Given the description of an element on the screen output the (x, y) to click on. 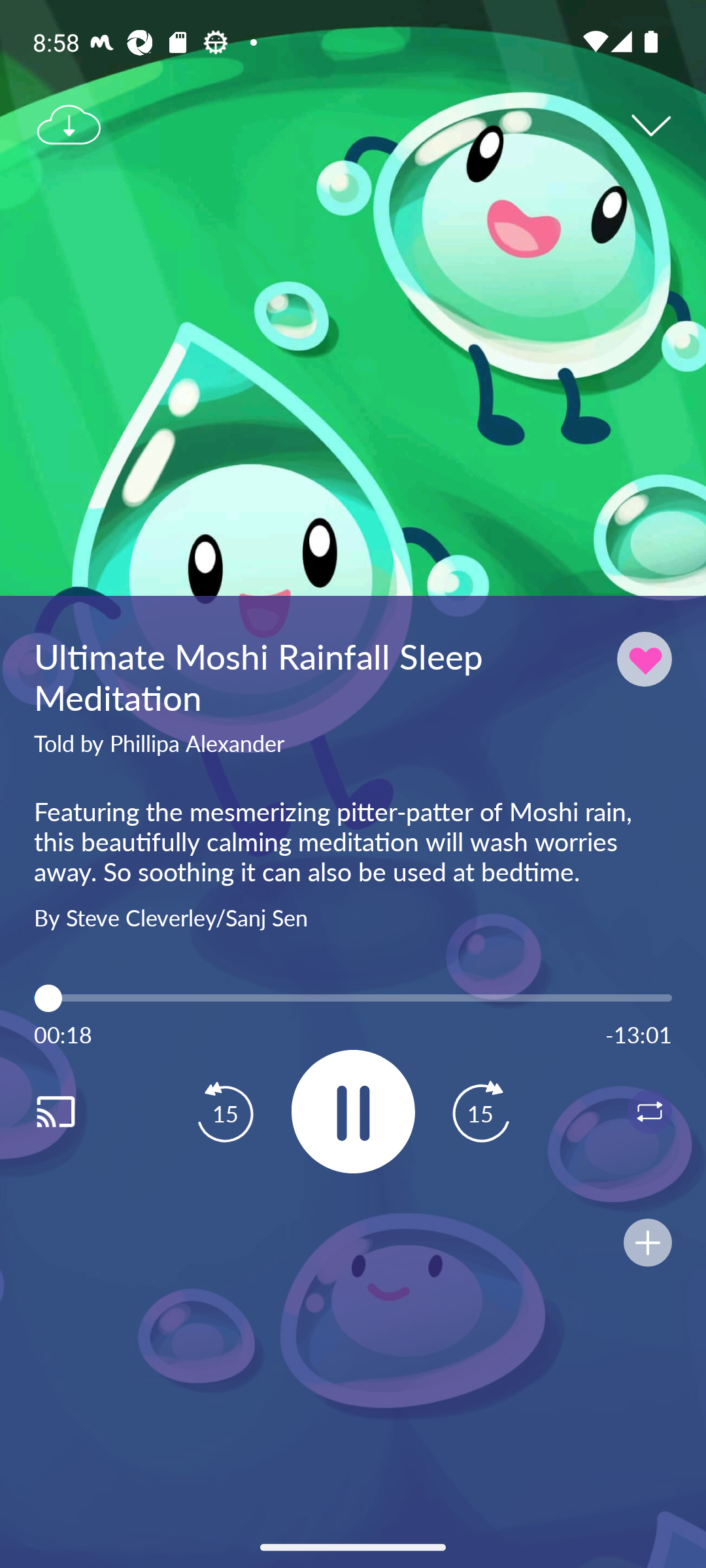
18.0 (352, 997)
Cast. Disconnected (76, 1111)
